Given the description of an element on the screen output the (x, y) to click on. 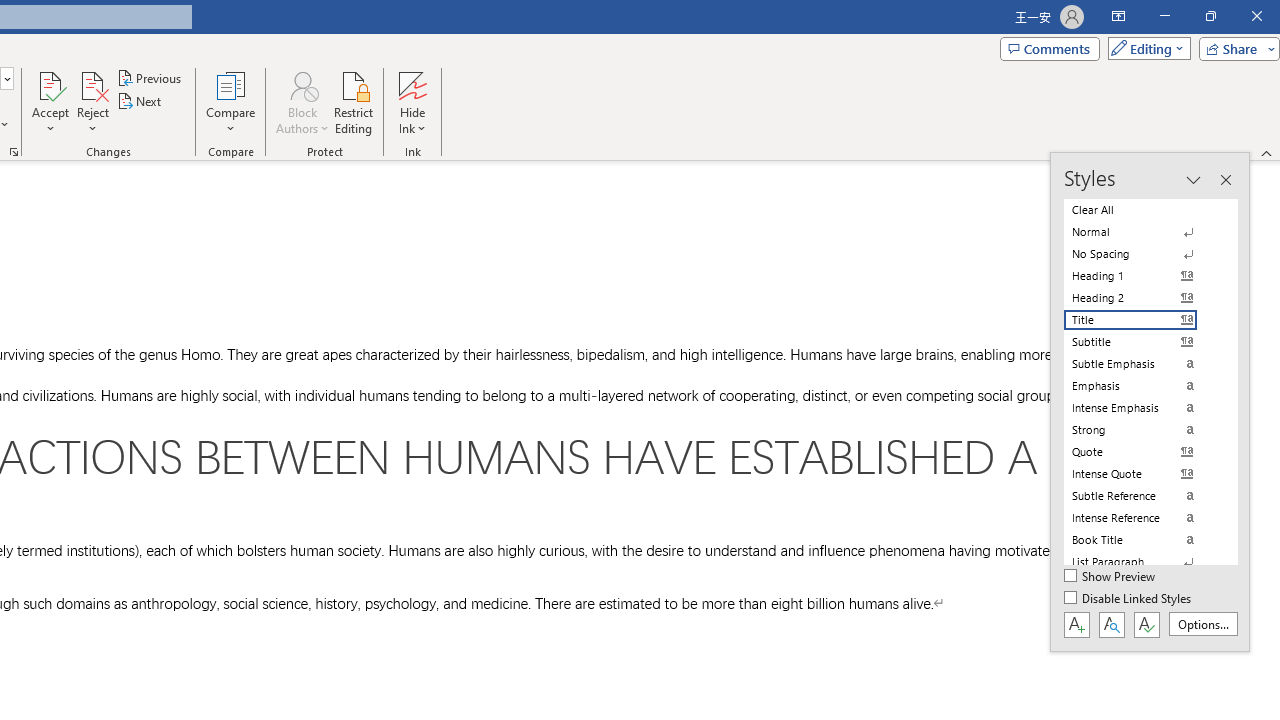
Compare (230, 102)
Quote (1142, 451)
Class: MsoCommandBar (1149, 401)
Normal (1142, 232)
Emphasis (1142, 385)
Book Title (1142, 539)
Disable Linked Styles (1129, 599)
No Spacing (1142, 253)
Restrict Editing (353, 102)
Hide Ink (412, 102)
Change Tracking Options... (13, 151)
